Given the description of an element on the screen output the (x, y) to click on. 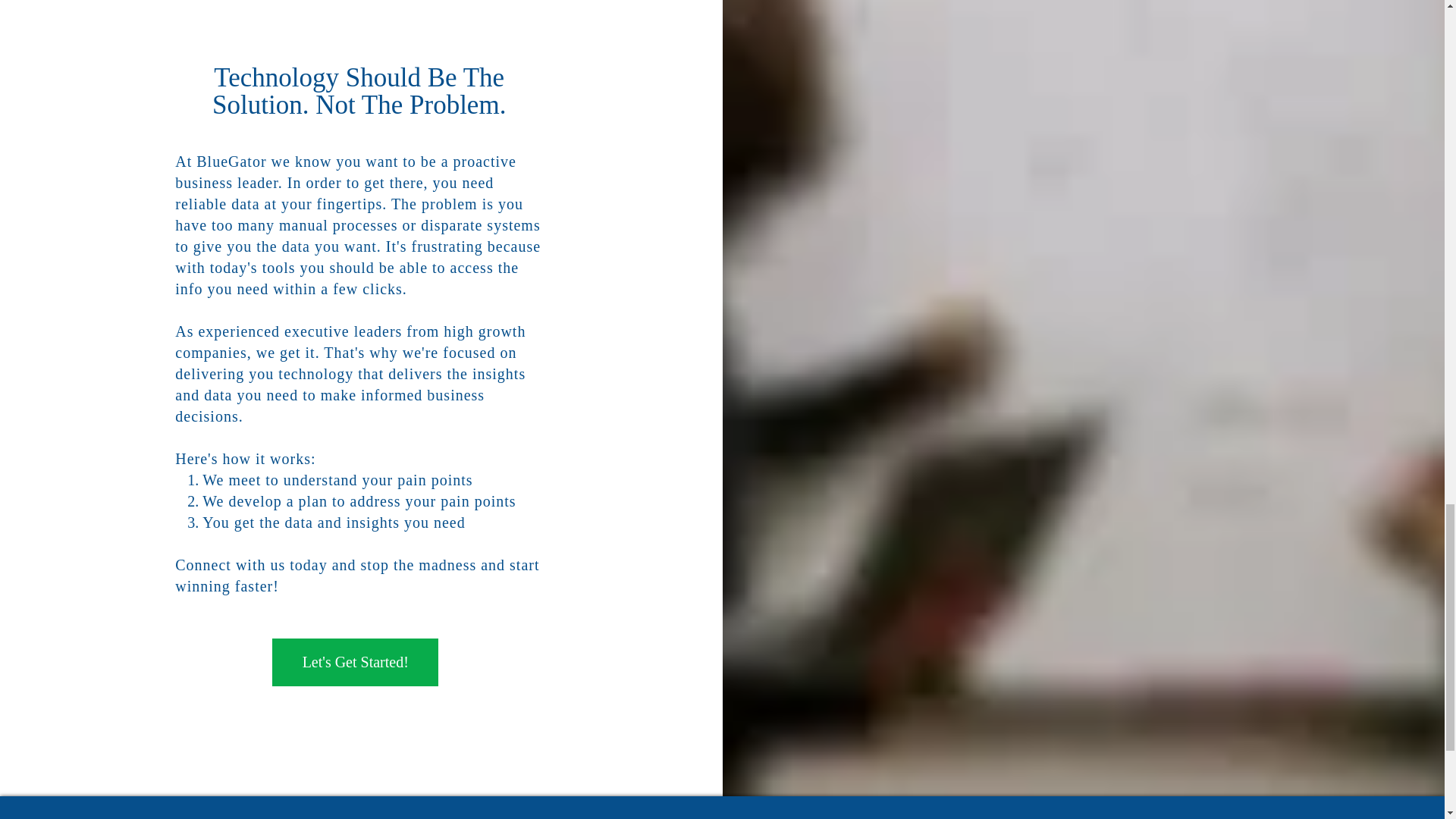
Let's Get Started! (355, 662)
